Given the description of an element on the screen output the (x, y) to click on. 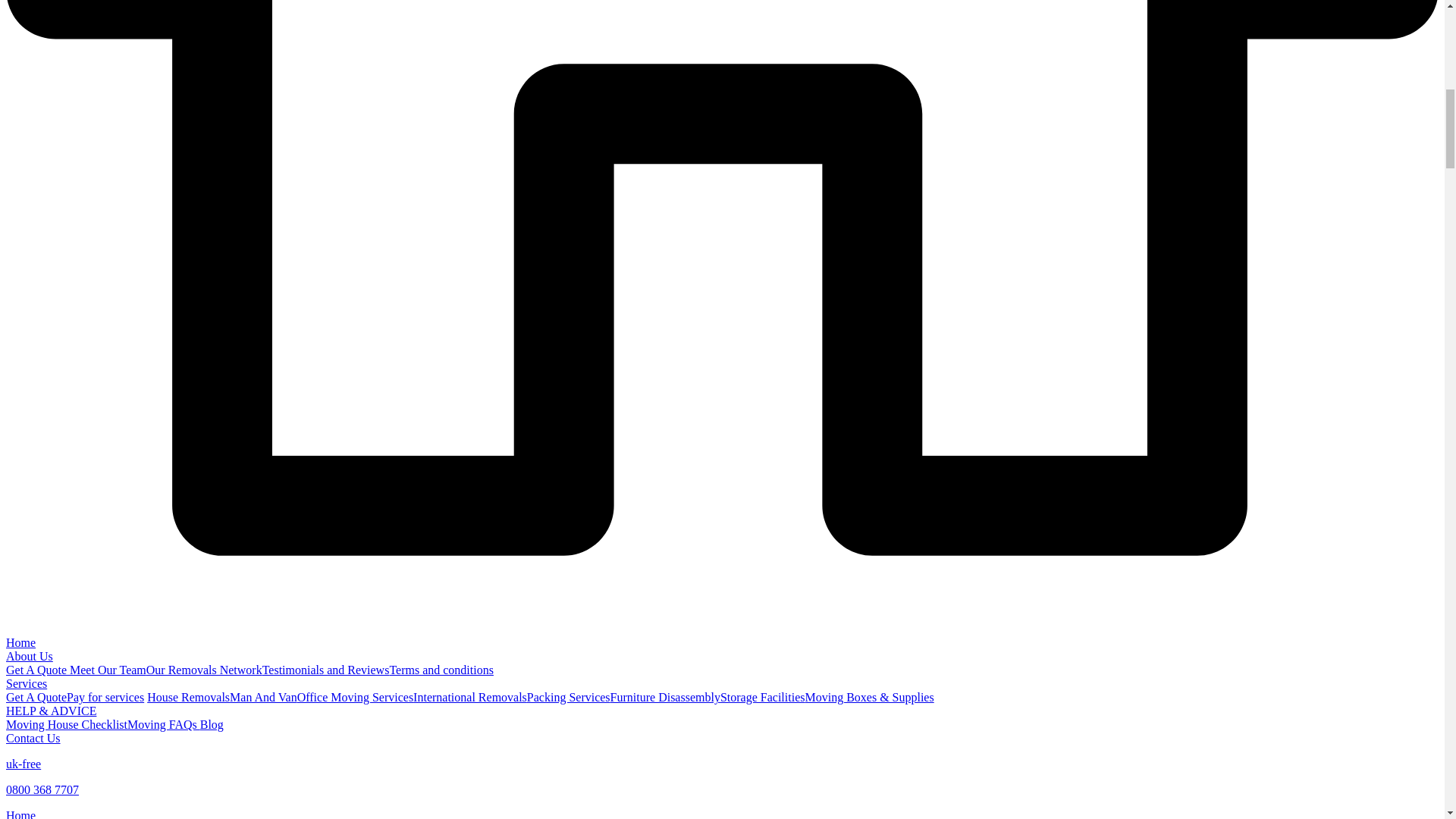
Pay for services (105, 697)
Storage Facilities (762, 697)
Contact Us (33, 738)
International Removals (470, 697)
Services (25, 683)
House Removals (188, 697)
Get A Quote (35, 697)
Packing Services (568, 697)
Moving FAQs (164, 724)
Testimonials and Reviews (326, 669)
Blog (212, 724)
Our Removals Network (204, 669)
About Us (28, 656)
Meet Our Team (108, 669)
Home (19, 814)
